Given the description of an element on the screen output the (x, y) to click on. 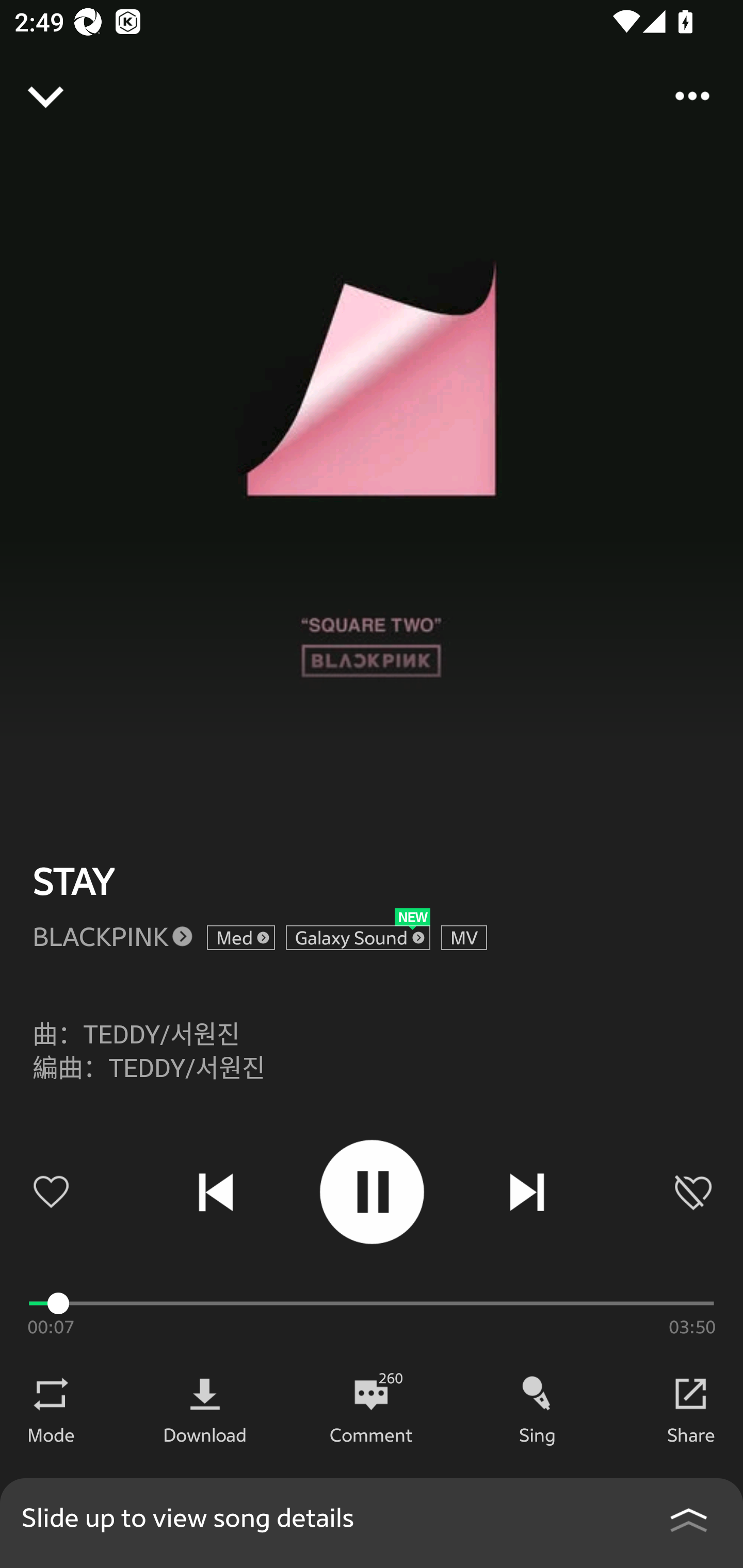
STAY (73, 881)
BLACKPINK (100, 935)
Med (240, 937)
Galaxy Sound (358, 937)
MV (464, 937)
260 (371, 1393)
Mode (51, 1434)
Download (204, 1434)
Comment (370, 1434)
Sing (537, 1434)
Share (691, 1434)
Slide up to view song details (371, 1523)
